Given the description of an element on the screen output the (x, y) to click on. 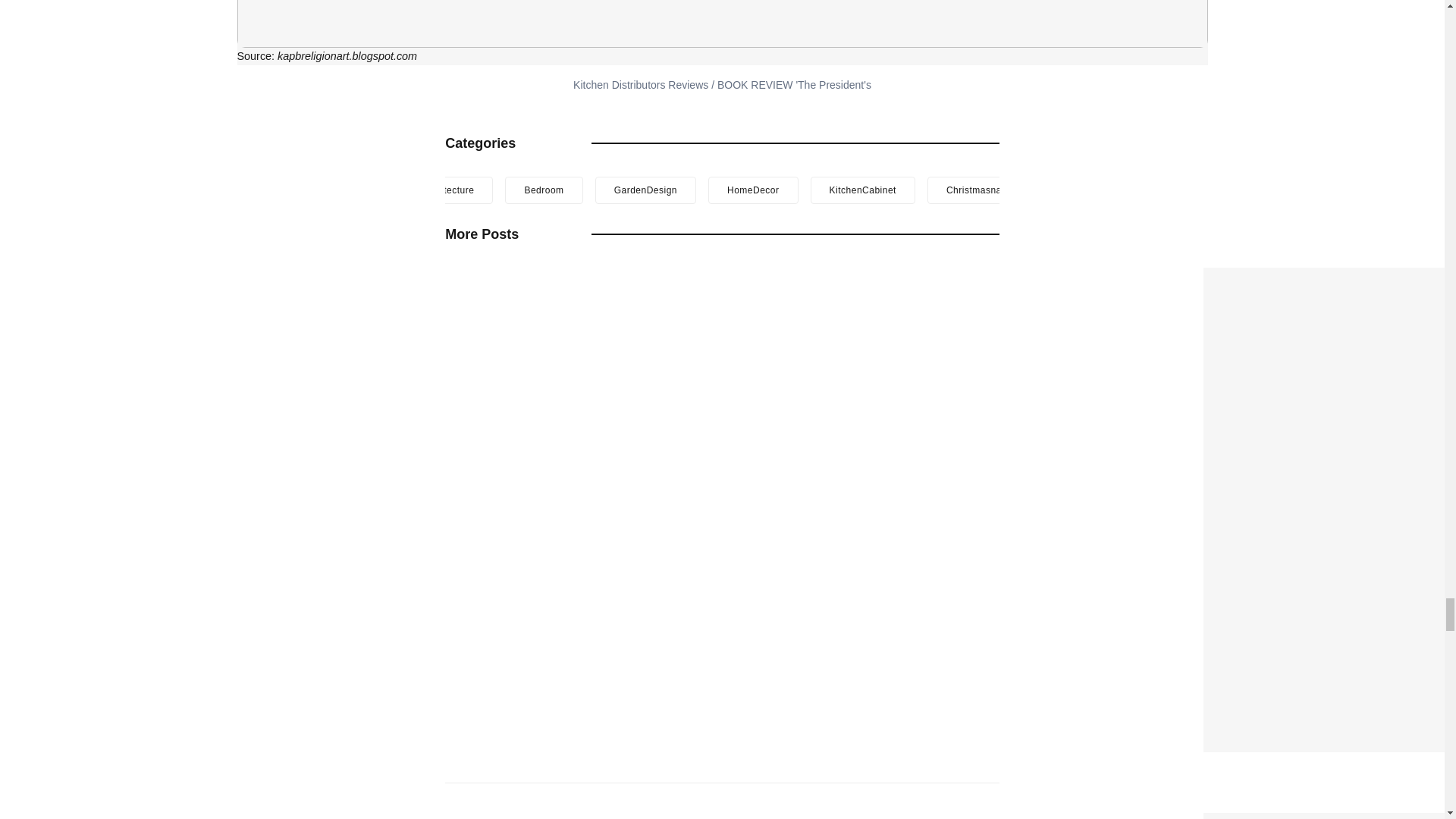
Architecture (447, 189)
Bedroom (543, 189)
Cabinet Design Software Free (1300, 277)
Shoe Cabinet Dimensions (1287, 816)
Christmasnails (978, 189)
GardenDesign (645, 189)
HomeDecor (752, 189)
KitchenCabinet (862, 189)
